Given the description of an element on the screen output the (x, y) to click on. 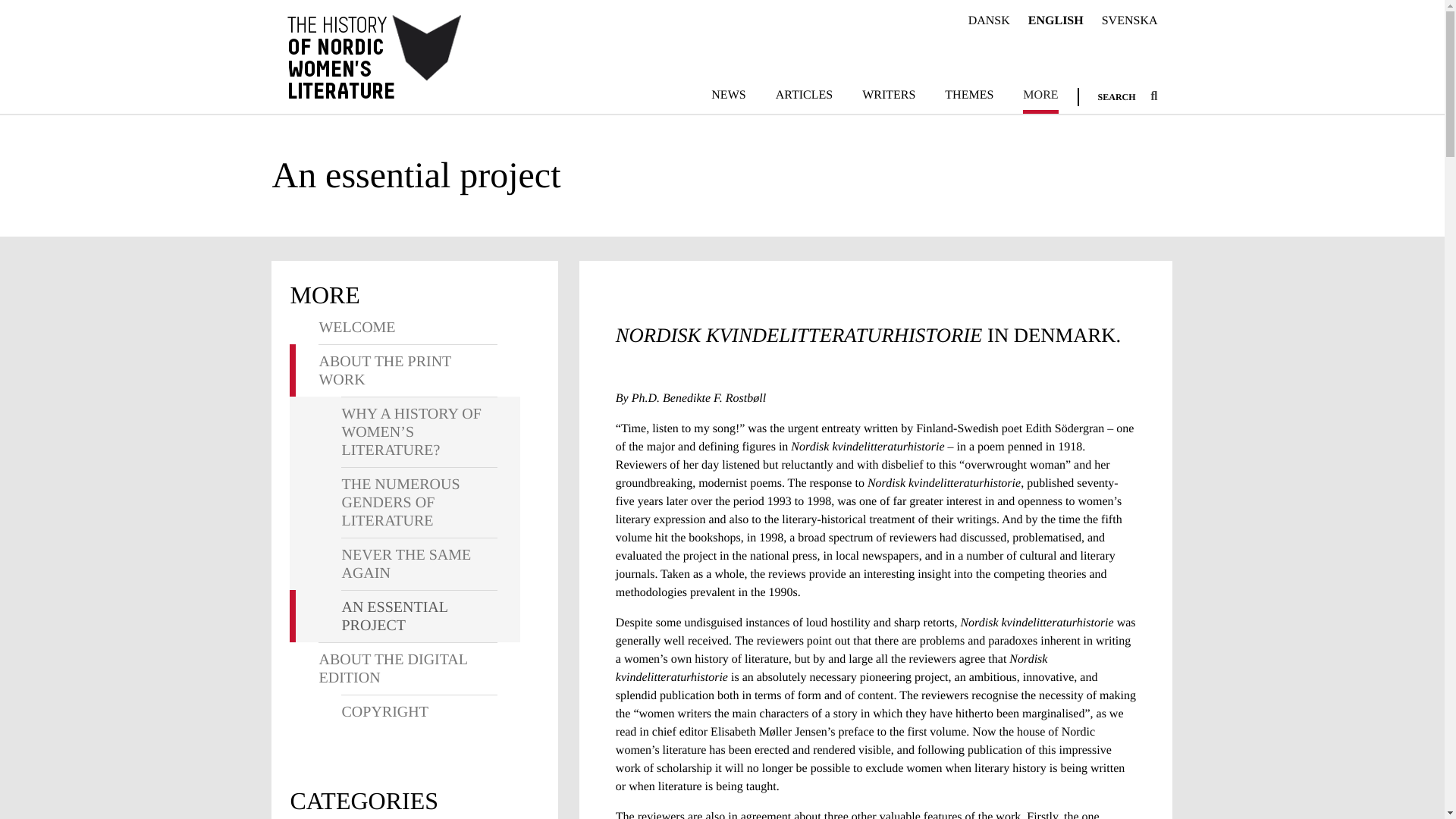
MORE (1040, 99)
DANSK (989, 21)
WRITERS (888, 99)
NEWS (728, 99)
ABOUT THE DIGITAL EDITION (407, 668)
ARTICLES (804, 99)
COPYRIGHT (418, 711)
NEVER THE SAME AGAIN (418, 563)
THE NUMEROUS GENDERS OF LITERATURE (418, 501)
WELCOME (407, 327)
